Given the description of an element on the screen output the (x, y) to click on. 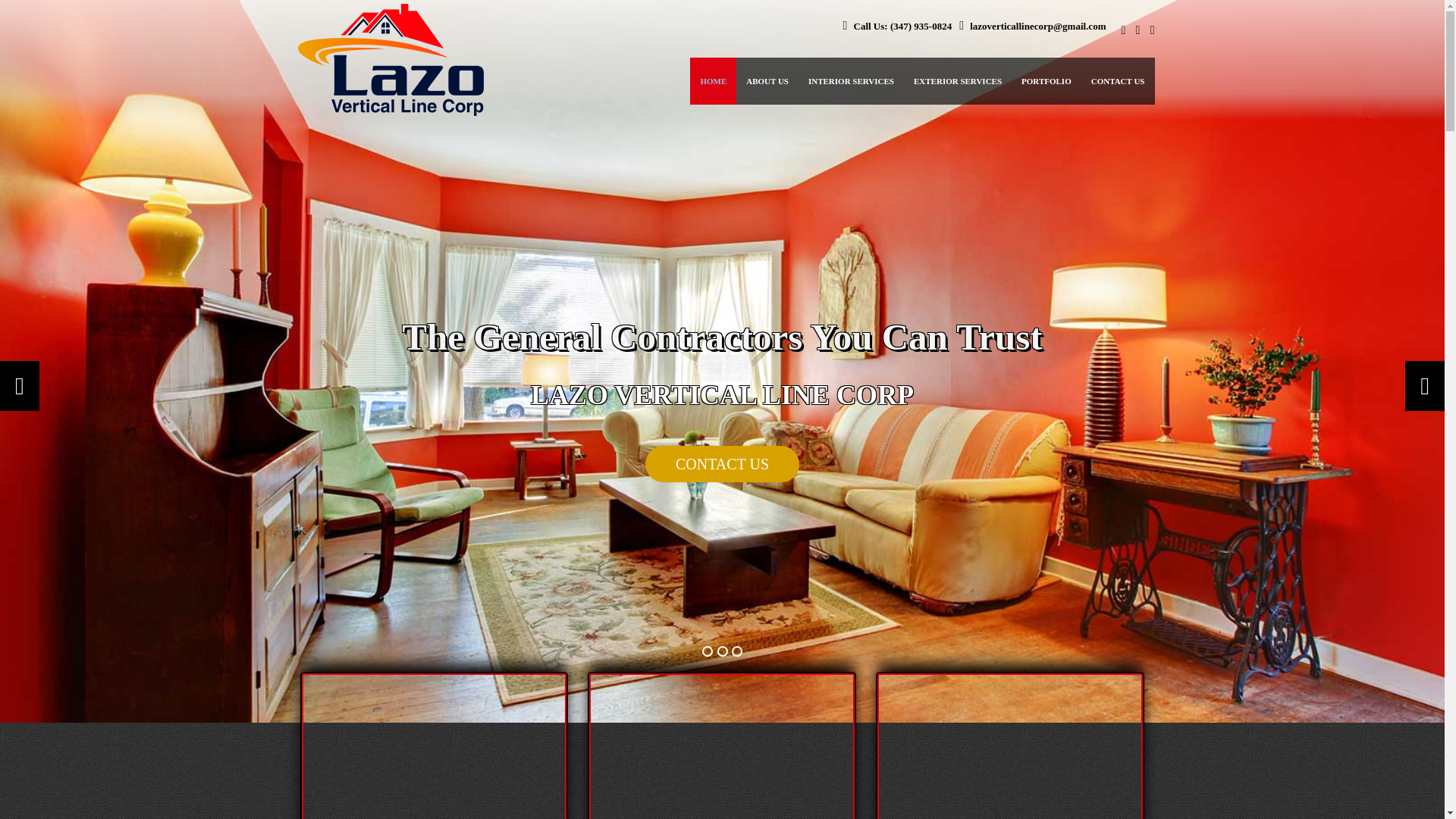
Contact Us (1117, 80)
Portfolio (1046, 80)
Services (850, 80)
CONTACT US (715, 474)
Home (713, 80)
HOME (713, 80)
CONTACT US (1117, 80)
Contact Us (722, 463)
ABOUT US (766, 80)
EXTERIOR SERVICES (957, 80)
INTERIOR SERVICES (850, 80)
PORTFOLIO (1046, 80)
About Us (766, 80)
Roofing Terms (957, 80)
Facebook (1119, 30)
